Given the description of an element on the screen output the (x, y) to click on. 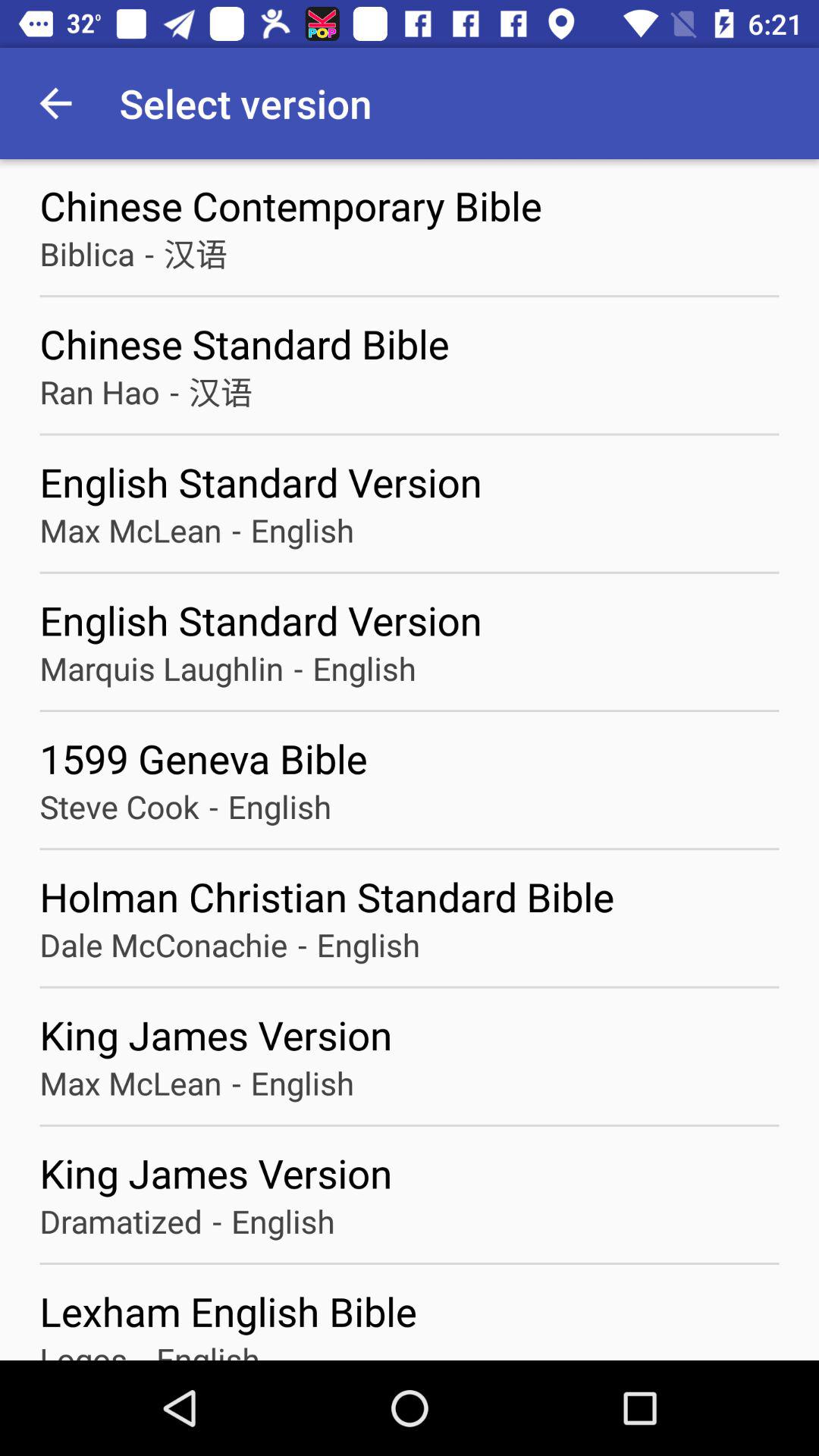
press item above the 1599 geneva bible icon (161, 667)
